Given the description of an element on the screen output the (x, y) to click on. 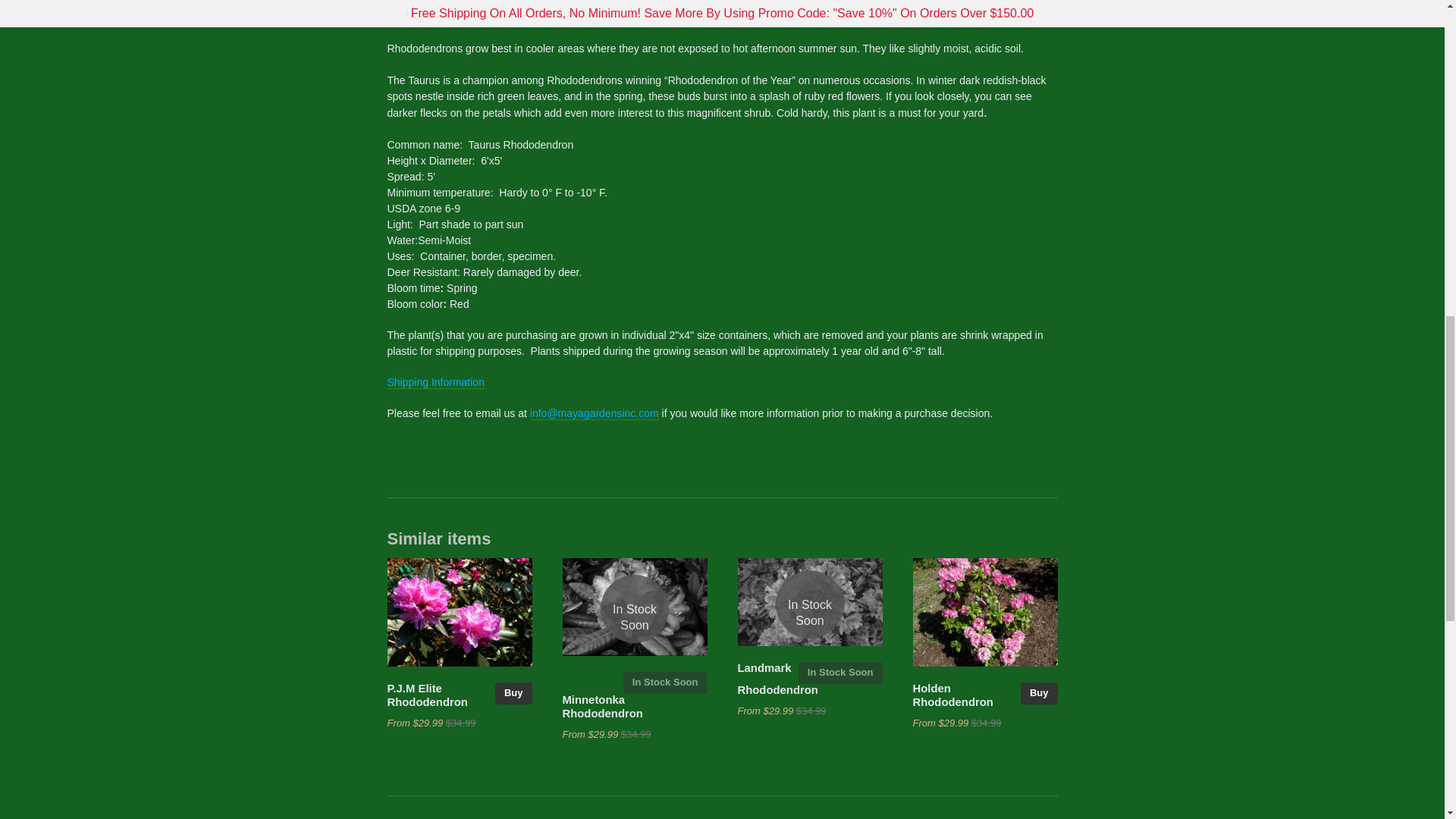
In Stock Soon (634, 608)
Landmark Rhododendron (776, 678)
Shipping Information (435, 382)
Minnetonka Rhododendron (602, 706)
In Stock Soon (665, 682)
P.J.M Elite Rhododendron (427, 695)
shipping-information (435, 382)
Buy (1039, 693)
Holden Rhododendron (952, 695)
In Stock Soon (809, 603)
